Given the description of an element on the screen output the (x, y) to click on. 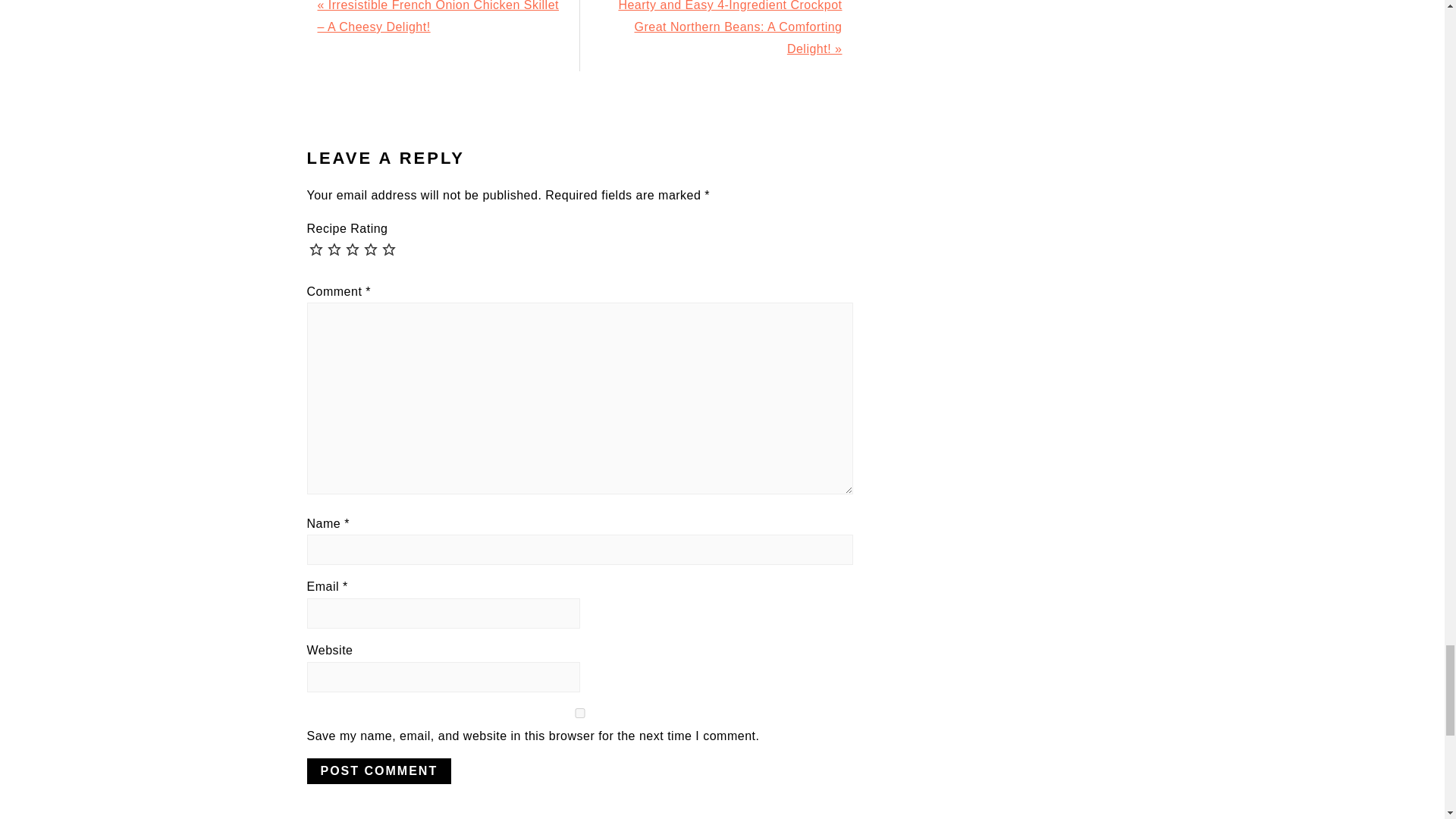
Post Comment (378, 770)
yes (578, 713)
Post Comment (378, 770)
